Given the description of an element on the screen output the (x, y) to click on. 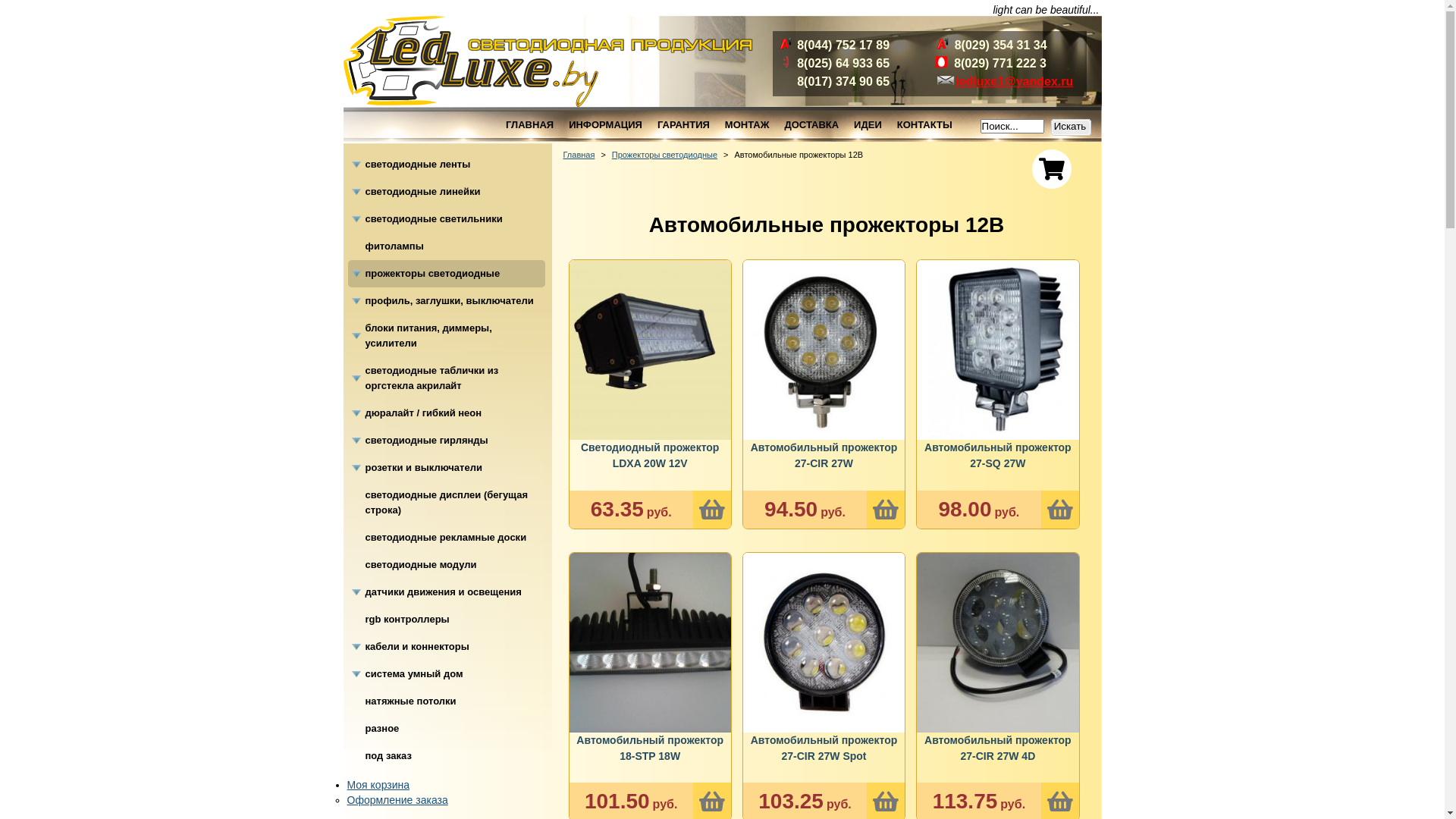
ledluxe1@yandex.ru Element type: text (1014, 81)
